Given the description of an element on the screen output the (x, y) to click on. 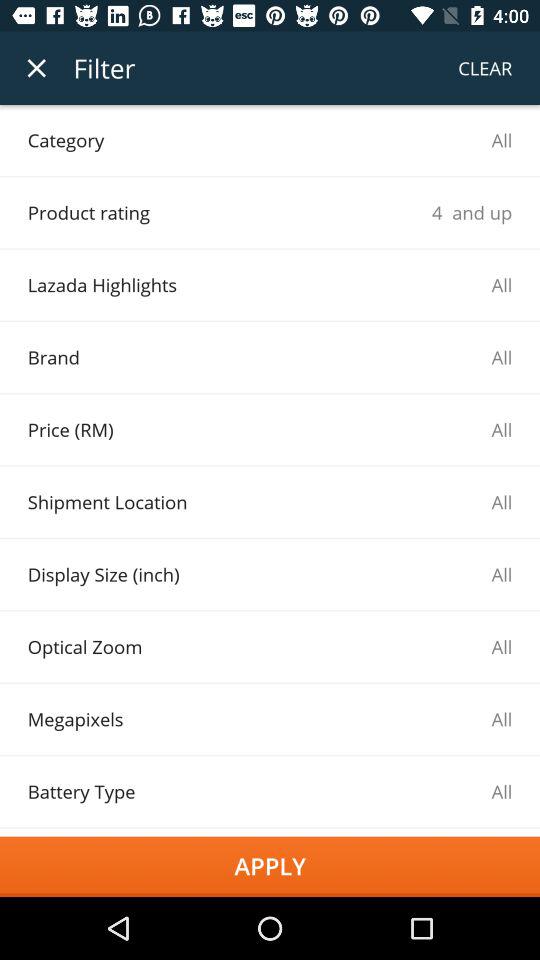
turn off the icon next to filter (36, 68)
